Given the description of an element on the screen output the (x, y) to click on. 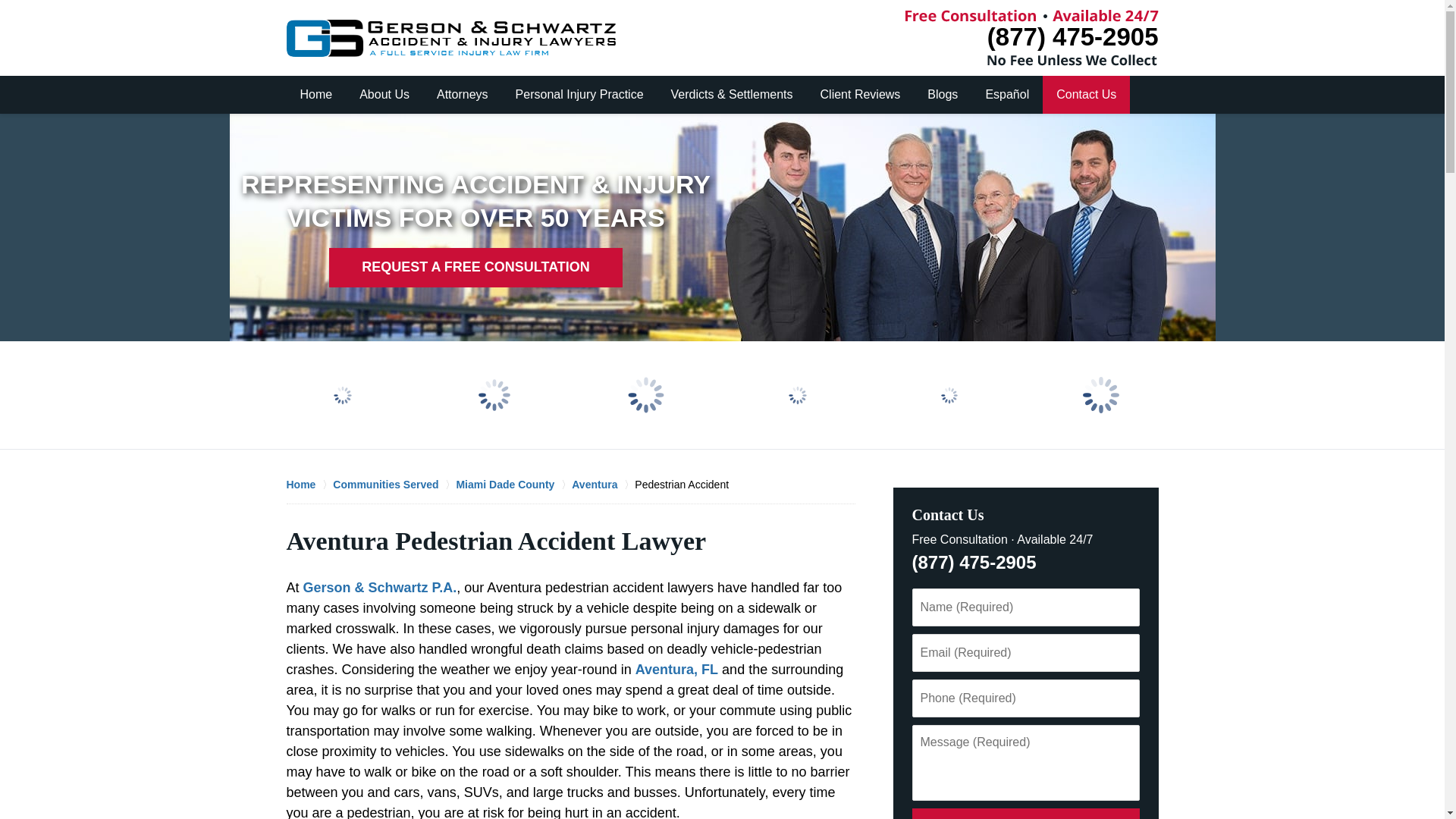
Personal Injury Practice (580, 94)
Blogs (942, 94)
About Us (384, 94)
REQUEST A FREE CONSULTATION (476, 267)
Miami Dade County (513, 483)
Attorneys (462, 94)
Communities Served (394, 483)
Aventura (603, 483)
Contact Us (1085, 94)
Client Reviews (860, 94)
